Given the description of an element on the screen output the (x, y) to click on. 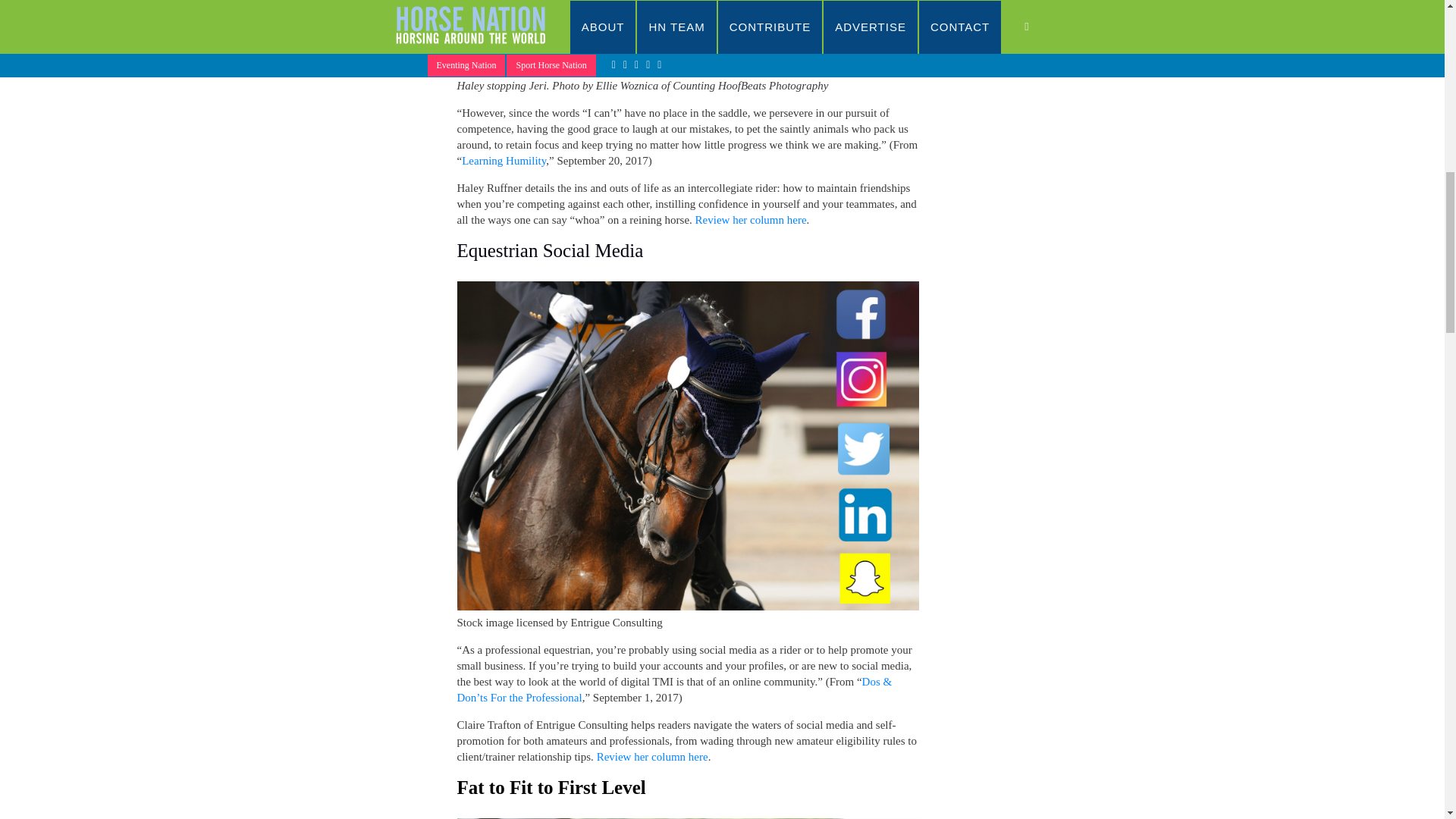
Learning Humility (503, 160)
Review her column here (750, 219)
Review her column here (651, 756)
